Given the description of an element on the screen output the (x, y) to click on. 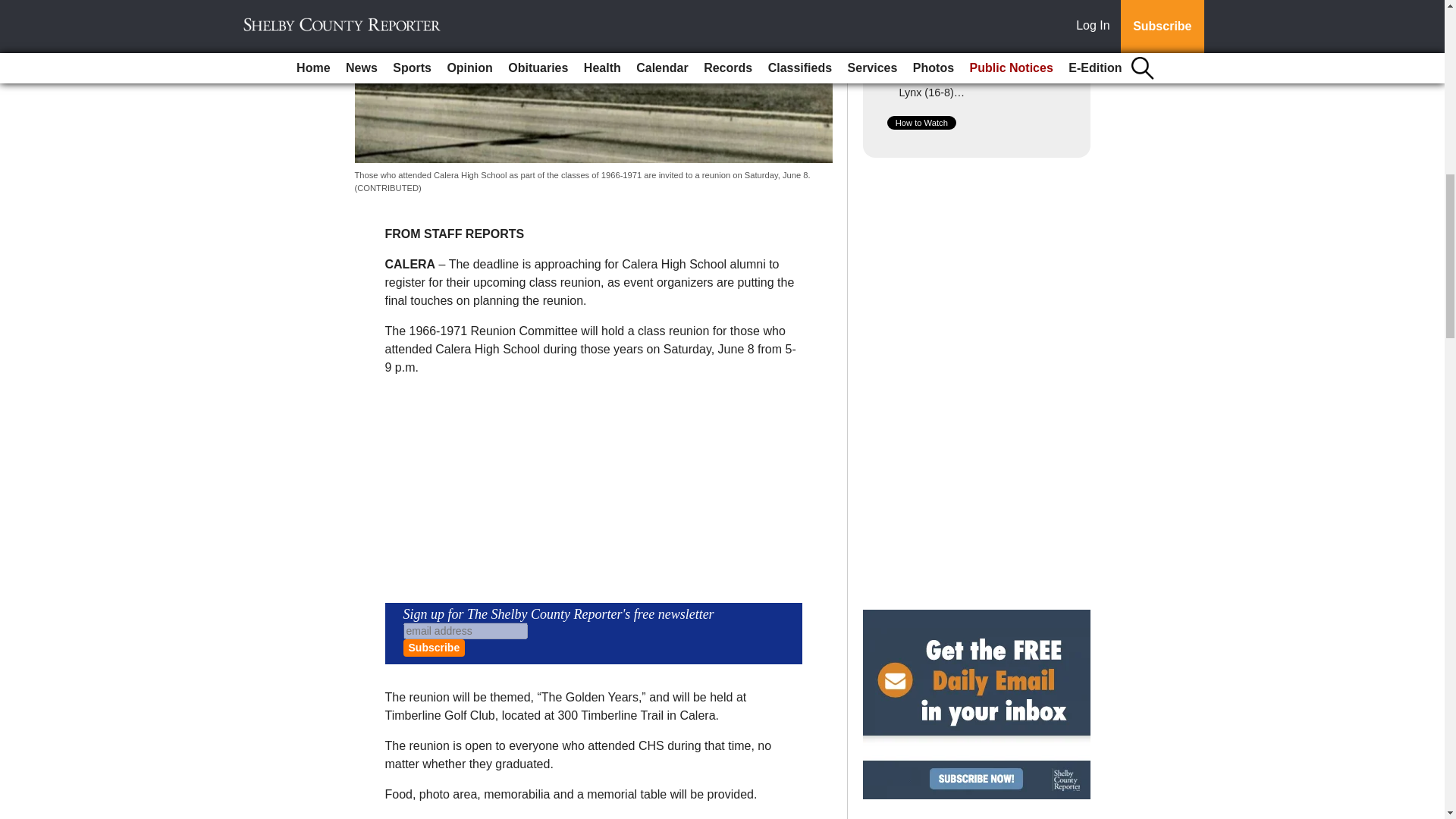
Subscribe (434, 647)
